Given the description of an element on the screen output the (x, y) to click on. 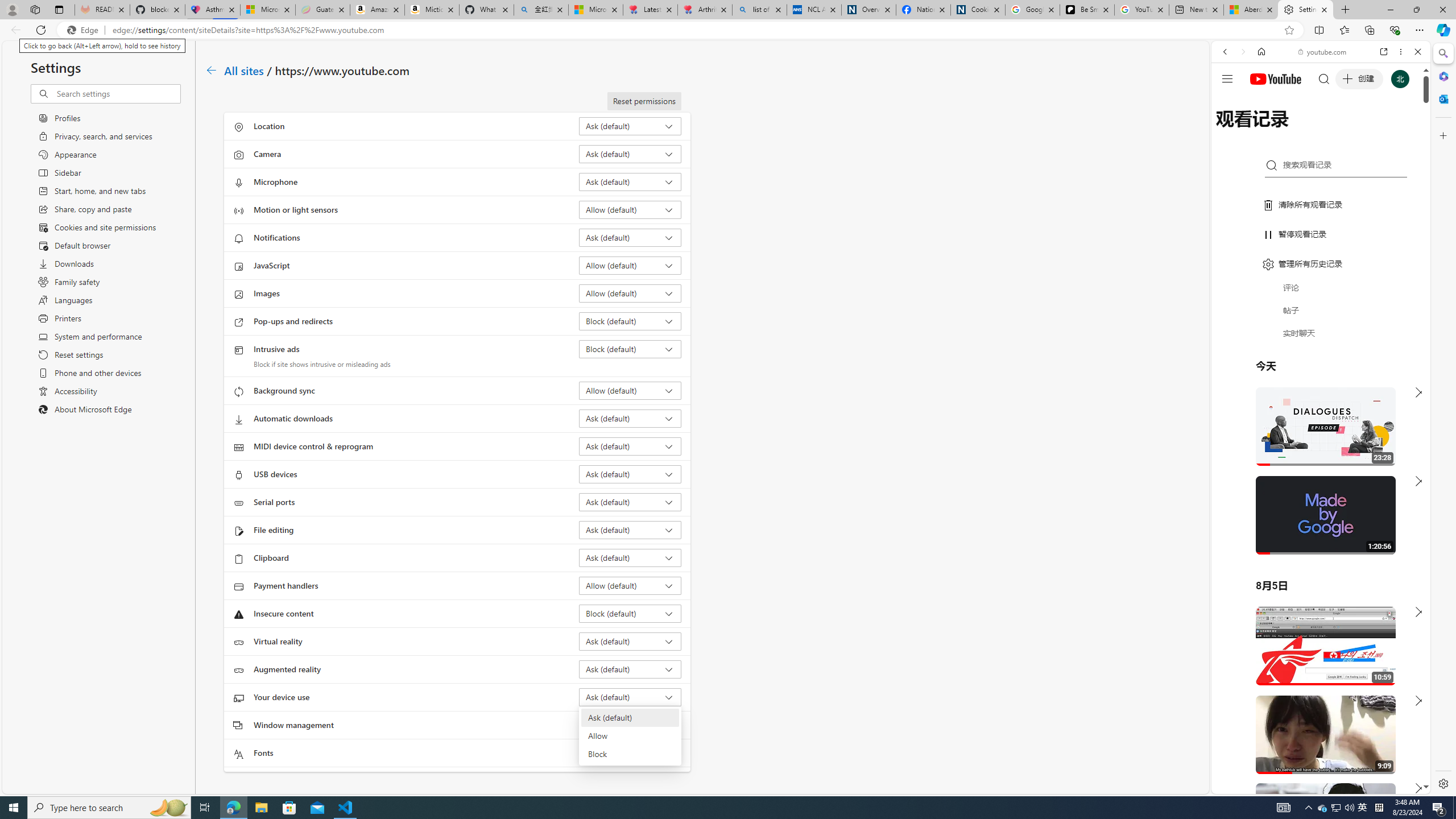
Microphone Ask (default) (630, 181)
Arthritis: Ask Health Professionals (704, 9)
All sites (244, 69)
Block (629, 754)
Search Filter, IMAGES (1262, 129)
Ask (default) (629, 717)
Aberdeen, Hong Kong SAR hourly forecast | Microsoft Weather (1250, 9)
